Given the description of an element on the screen output the (x, y) to click on. 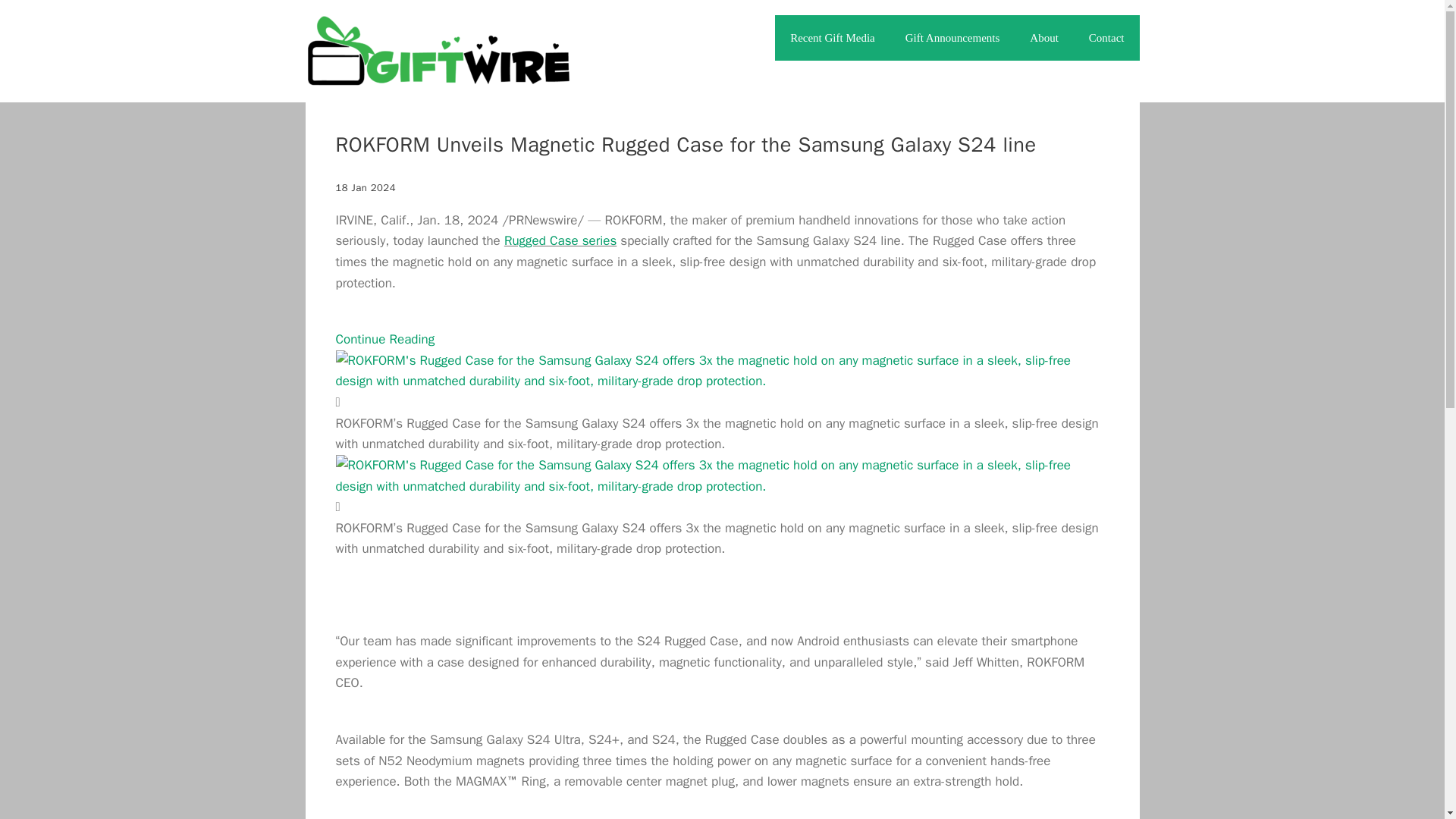
About (1044, 37)
Contact (1107, 37)
Recent Gift Media (831, 37)
Rugged Case series (559, 240)
Continue Reading (383, 339)
Continue Reading (383, 339)
Gift Announcements (951, 37)
